Given the description of an element on the screen output the (x, y) to click on. 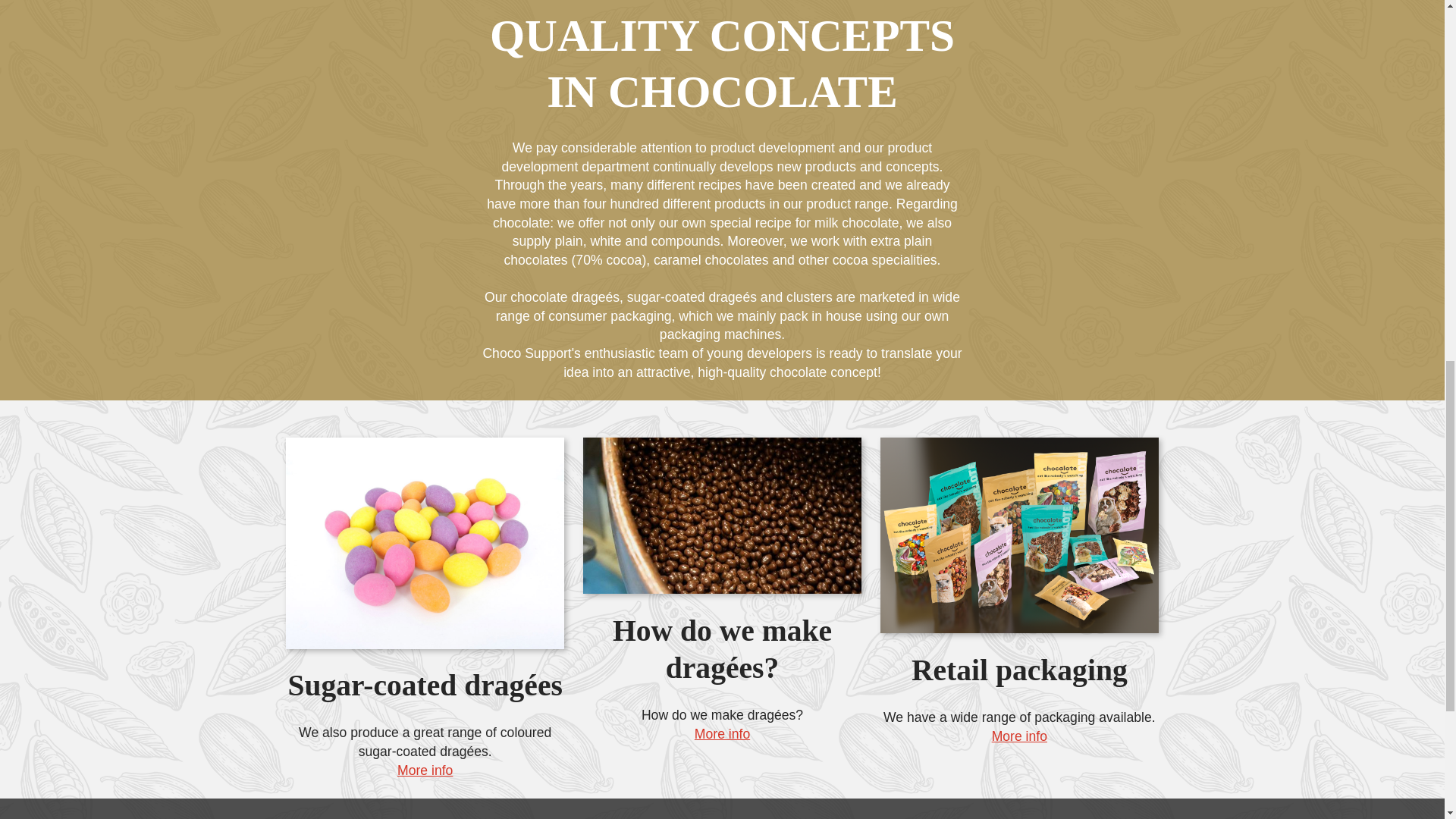
More info (1019, 736)
More info (424, 770)
More info (722, 733)
